Given the description of an element on the screen output the (x, y) to click on. 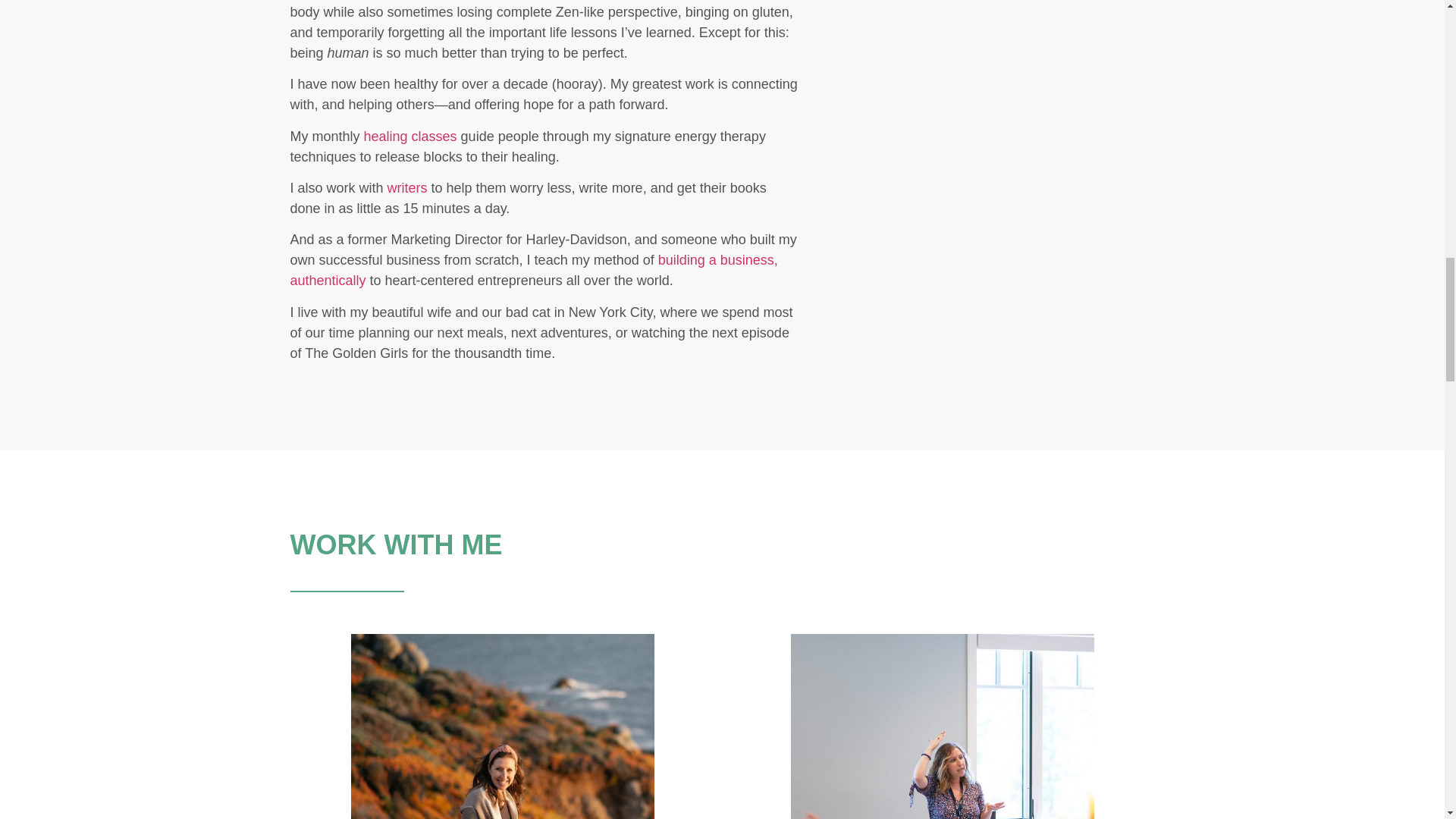
building a business, authentically (533, 270)
healing classes (410, 136)
writers (408, 187)
